Given the description of an element on the screen output the (x, y) to click on. 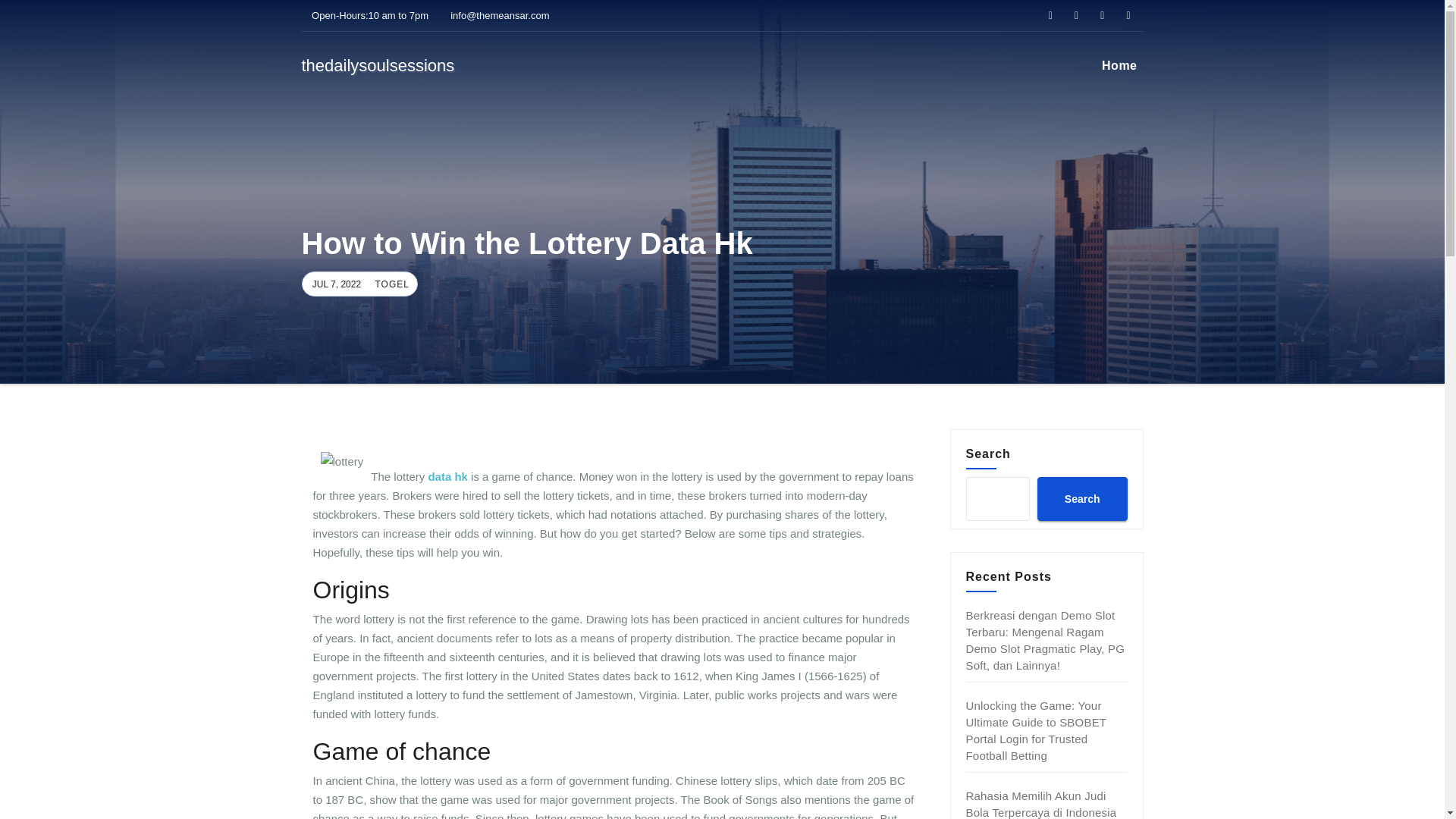
Search (1081, 498)
TOGEL (390, 284)
thedailysoulsessions (377, 65)
data hk (447, 476)
Open-Hours:10 am to 7pm (365, 15)
Rahasia Memilih Akun Judi Bola Terpercaya di Indonesia (1041, 804)
